Given the description of an element on the screen output the (x, y) to click on. 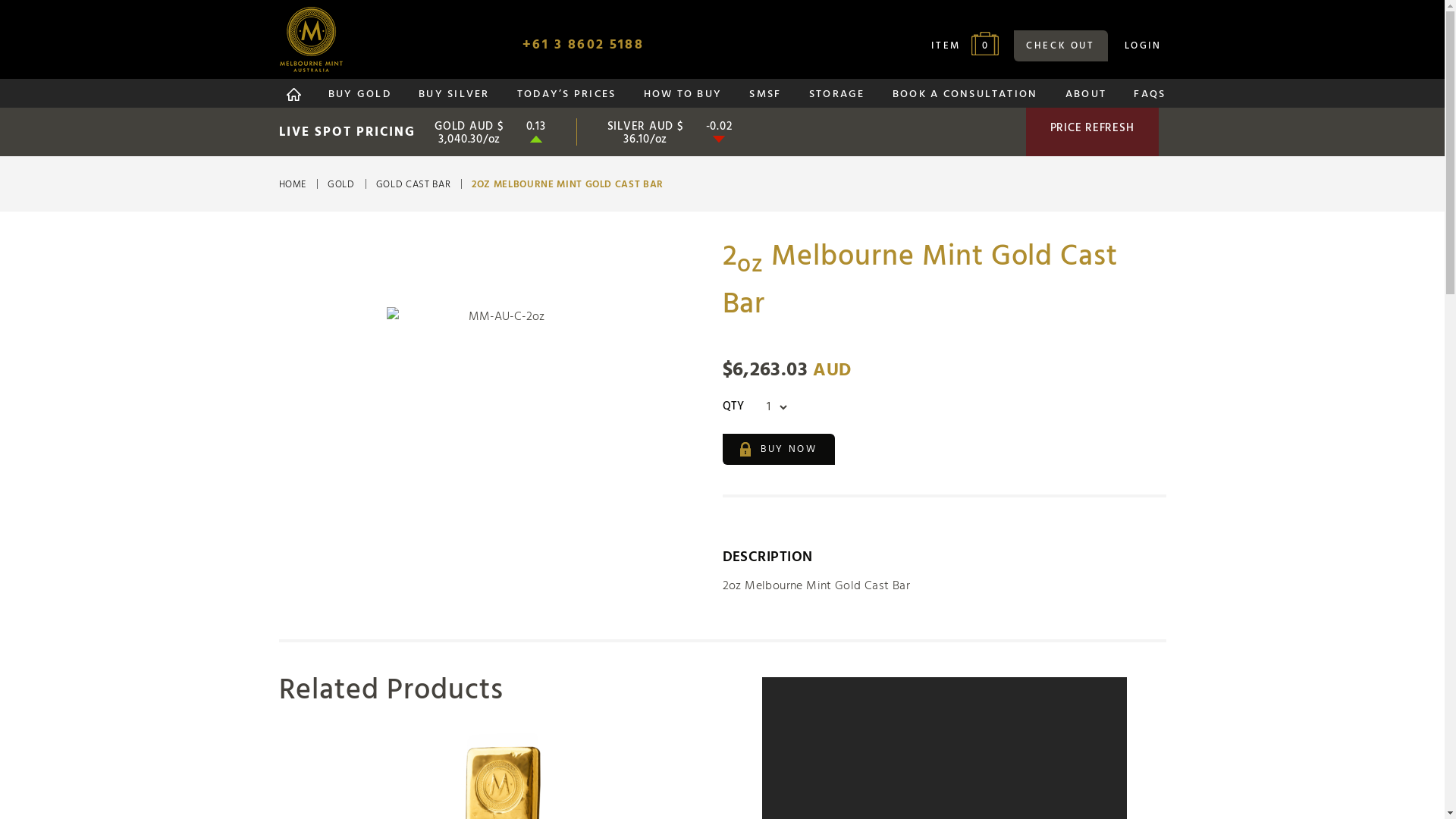
BOOK A CONSULTATION Element type: text (965, 97)
MM-AU-C-2oz Element type: hover (500, 420)
Melbourne Mint Element type: text (311, 39)
STORAGE Element type: text (837, 97)
HOW TO BUY Element type: text (682, 97)
BUY SILVER Element type: text (453, 97)
HOME Element type: text (298, 184)
SMSF Element type: text (765, 97)
CHECK OUT Element type: text (1060, 45)
BUY NOW Element type: text (777, 448)
BUY GOLD Element type: text (359, 97)
GOLD CAST BAR Element type: text (418, 184)
ITEM 0 Element type: text (970, 45)
LOGIN Element type: text (1142, 45)
FAQS Element type: text (1149, 97)
GOLD Element type: text (346, 184)
+61 3 8602 5188 Element type: text (582, 44)
ABOUT Element type: text (1085, 97)
